Given the description of an element on the screen output the (x, y) to click on. 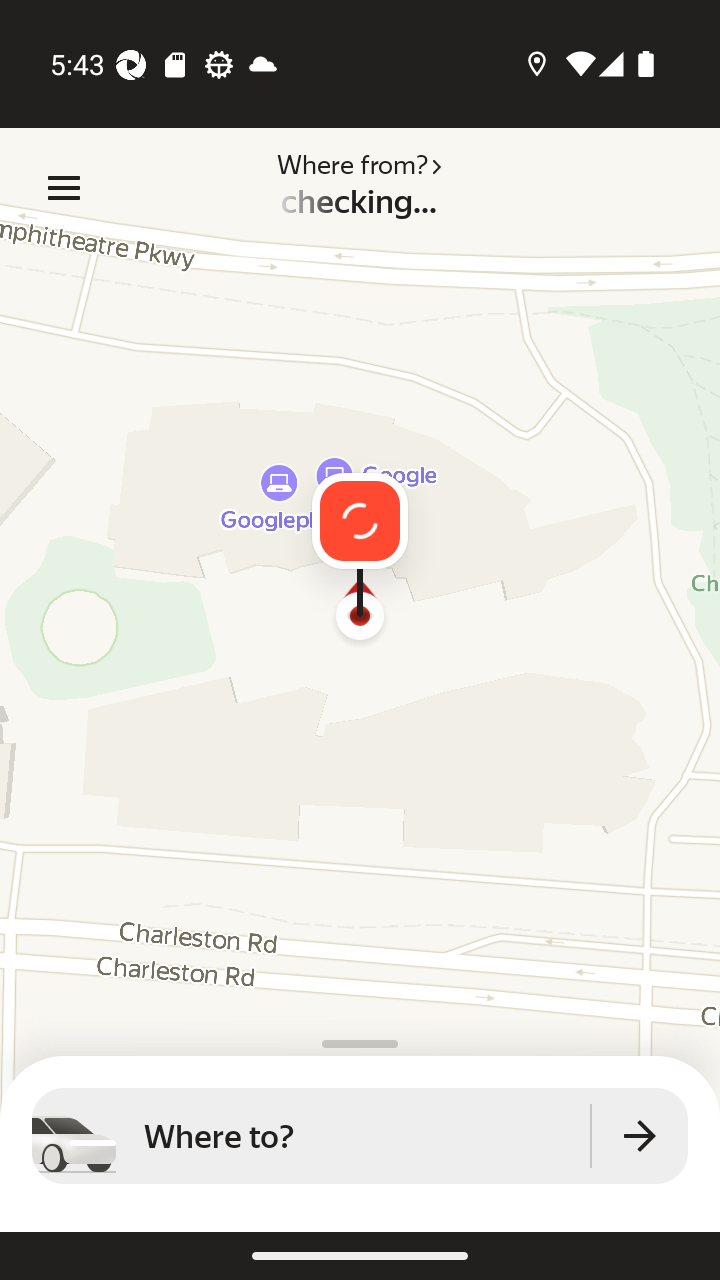
Menu Menu Menu (64, 188)
Where to? Where to? To the choice of address (359, 1136)
To the choice of address (639, 1136)
